Given the description of an element on the screen output the (x, y) to click on. 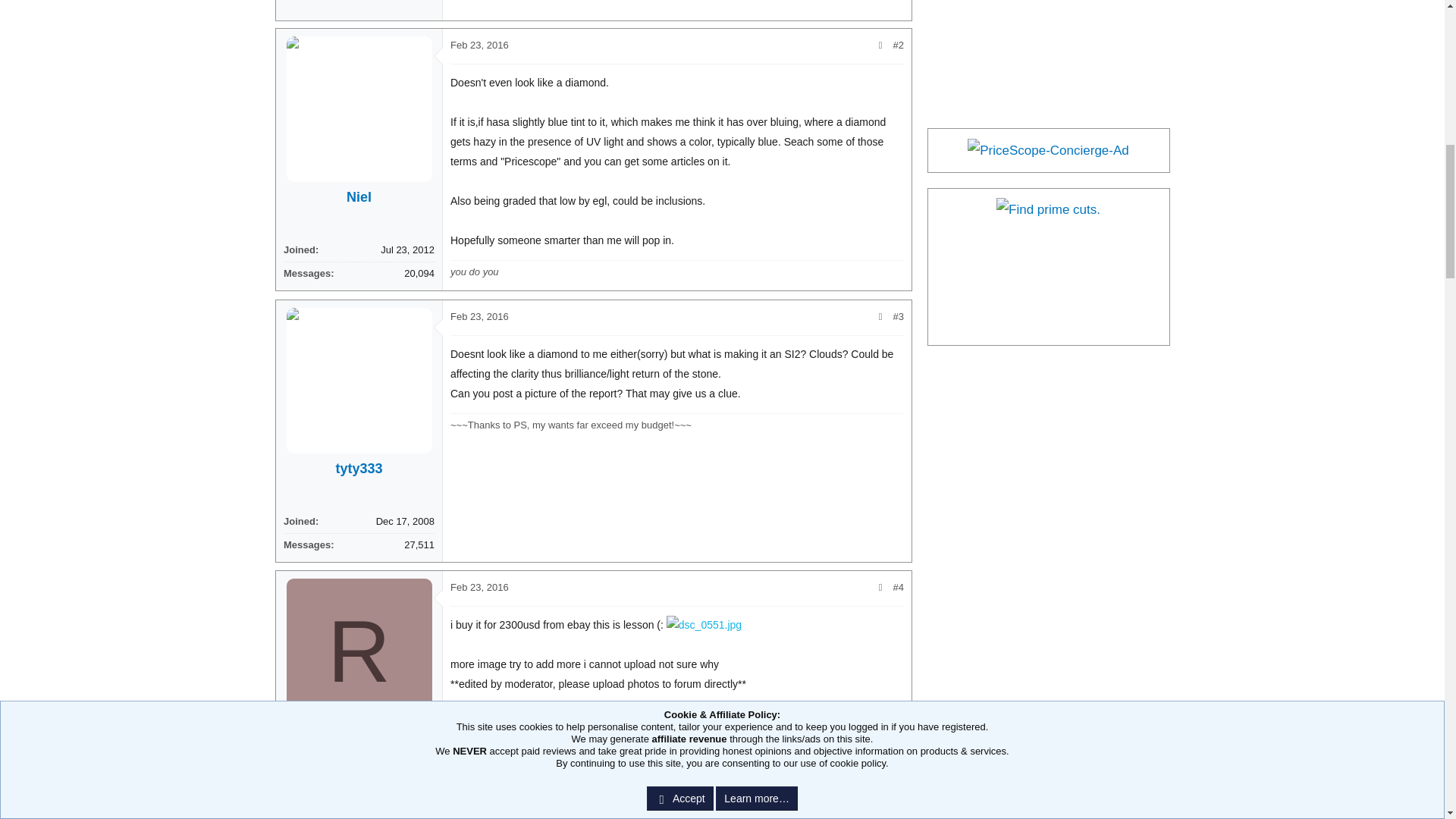
Feb 23, 2016 at 7:38 AM (478, 586)
Feb 23, 2016 at 7:28 AM (478, 316)
Feb 23, 2016 at 7:10 AM (478, 44)
